Given the description of an element on the screen output the (x, y) to click on. 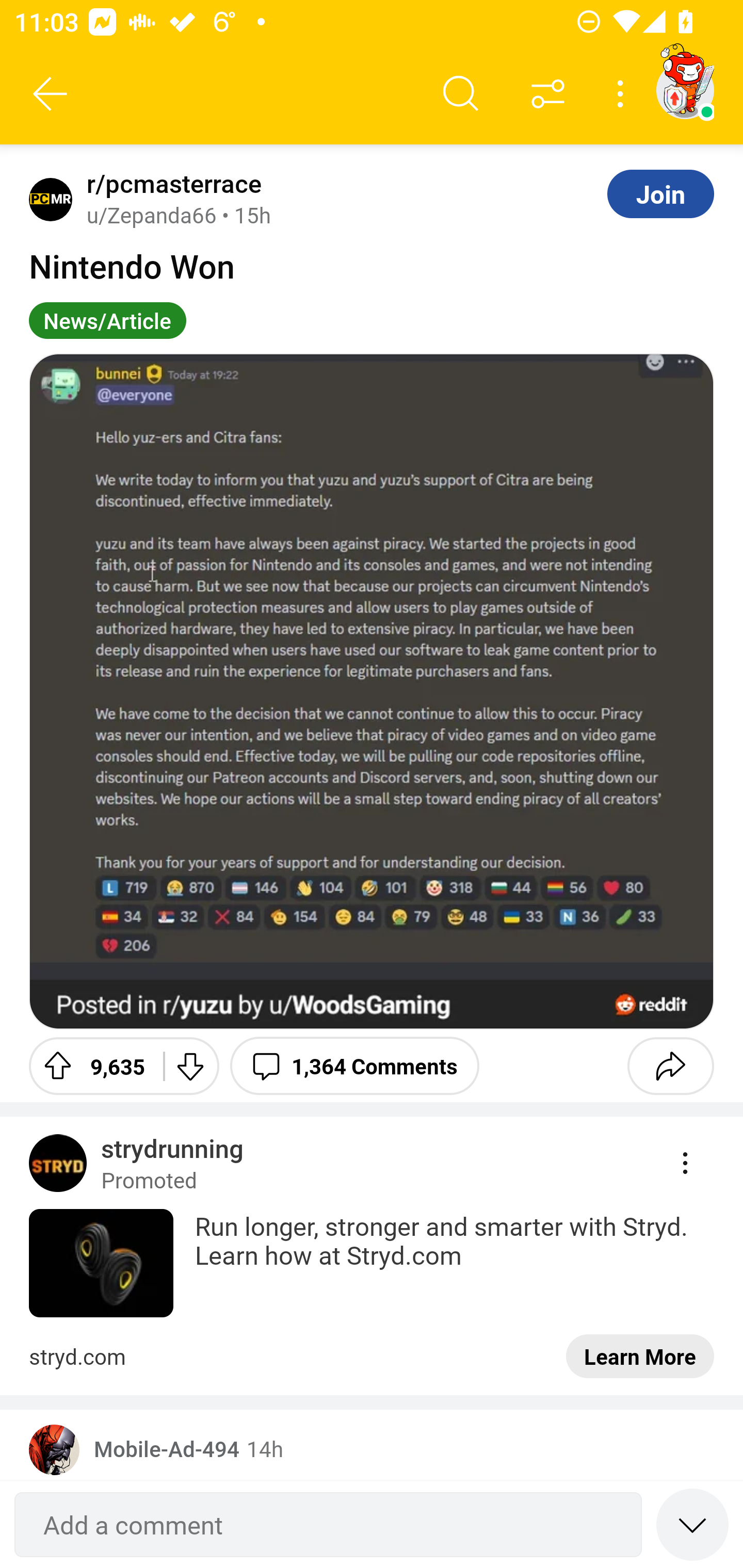
Back (50, 93)
TestAppium002 account (685, 90)
Search comments (460, 93)
Sort comments (547, 93)
More options (623, 93)
r/pcmasterrace (170, 183)
Join (660, 193)
Avatar (50, 199)
u/Zepanda66 (151, 214)
News/Article (107, 320)
Image (371, 691)
Upvote 9,635 (88, 1066)
Downvote (189, 1066)
1,364 Comments (354, 1066)
Share (670, 1066)
Avatar (53, 1449)
Speed read (692, 1524)
Add a comment (327, 1524)
